Given the description of an element on the screen output the (x, y) to click on. 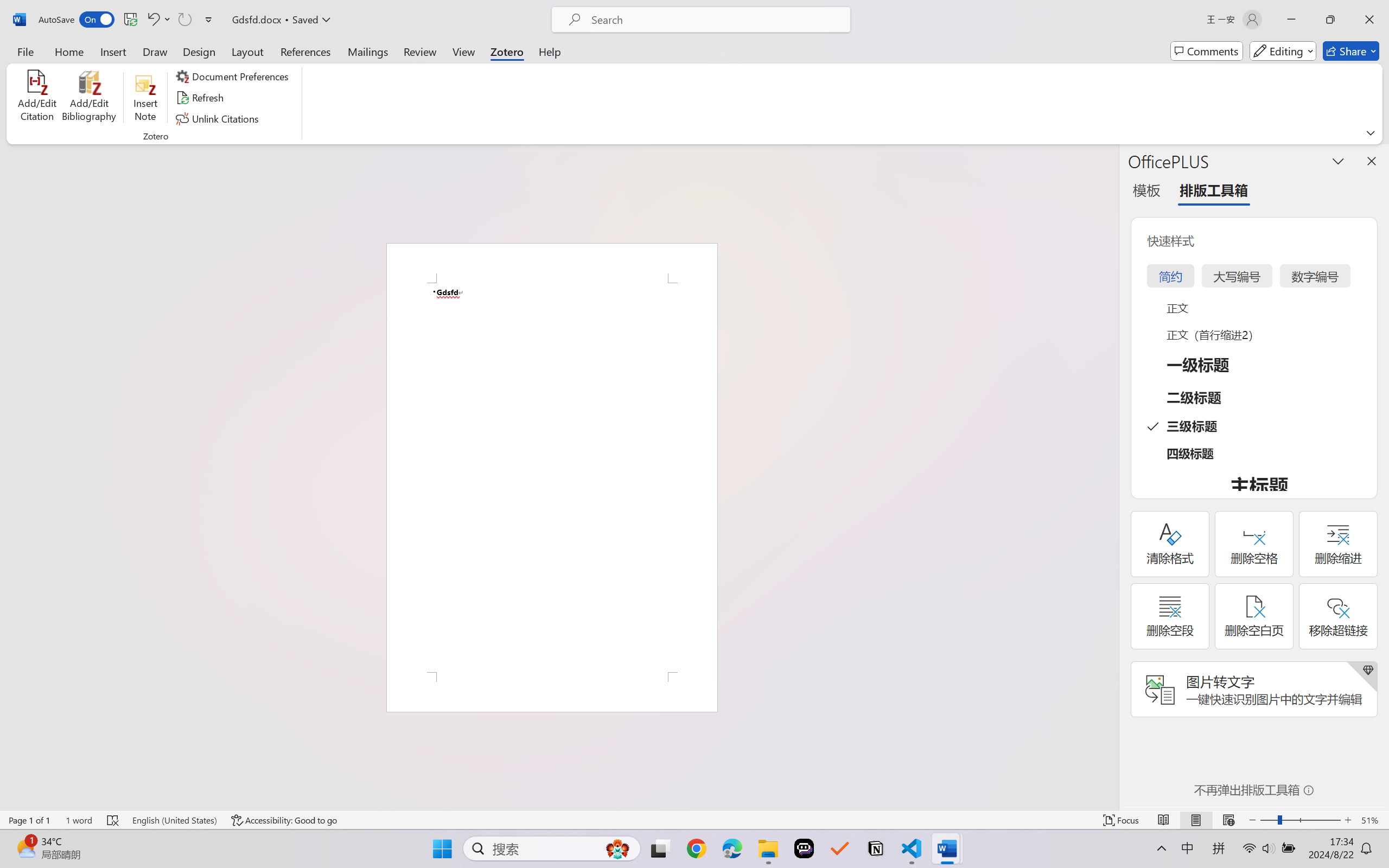
Can't Repeat (184, 19)
